Given the description of an element on the screen output the (x, y) to click on. 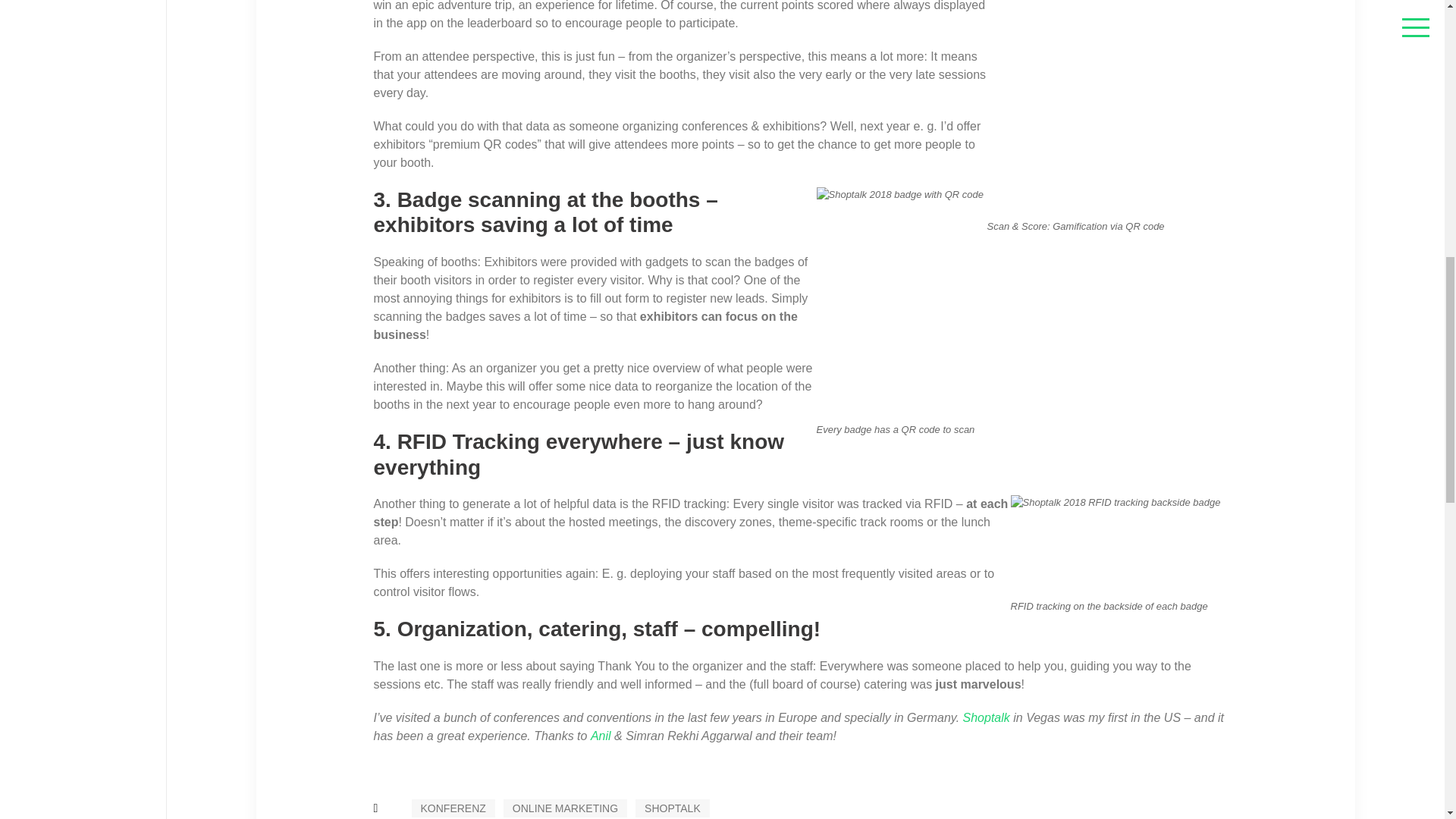
Anil (601, 736)
Shoptalk (986, 718)
ONLINE MARKETING (565, 808)
SHOPTALK (672, 808)
KONFERENZ (452, 808)
